Given the description of an element on the screen output the (x, y) to click on. 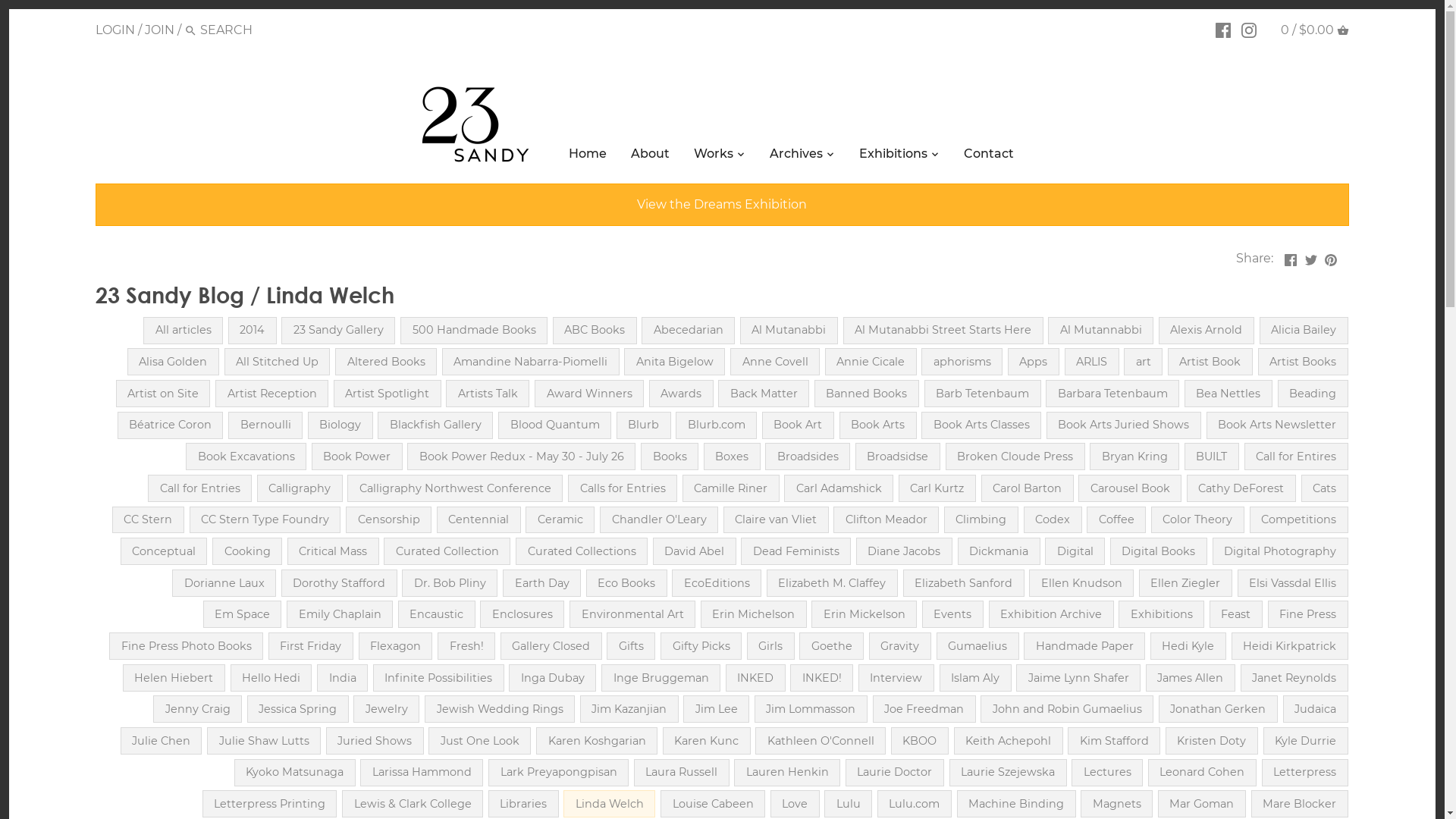
Boxes Element type: text (731, 456)
Carol Barton Element type: text (1027, 488)
Cats Element type: text (1324, 488)
Em Space Element type: text (241, 614)
Facebook
Share on Facebook Element type: text (1290, 256)
Book Arts Newsletter Element type: text (1277, 425)
Magnets Element type: text (1116, 803)
ARLIS Element type: text (1091, 361)
Carl Kurtz Element type: text (937, 488)
Laurie Doctor Element type: text (894, 772)
Conceptual Element type: text (164, 551)
Jonathan Gerken Element type: text (1218, 708)
Carl Adamshick Element type: text (838, 488)
Book Arts Element type: text (878, 425)
Earth Day Element type: text (541, 583)
Kristen Doty Element type: text (1211, 740)
INKED Element type: text (755, 677)
Eco Books Element type: text (626, 583)
BUILT Element type: text (1211, 456)
Broadsidse Element type: text (897, 456)
Inga Dubay Element type: text (552, 677)
Julie Chen Element type: text (161, 740)
Home Element type: text (587, 156)
Barb Tetenbaum Element type: text (982, 393)
Gravity Element type: text (899, 645)
View the Dreams Exhibition Element type: text (722, 204)
Award Winners Element type: text (589, 393)
Machine Binding Element type: text (1016, 803)
Bryan Kring Element type: text (1134, 456)
Book Excavations Element type: text (245, 456)
Digital Photography Element type: text (1280, 551)
Laura Russell Element type: text (681, 772)
Fine Press Element type: text (1307, 614)
Abecedarian Element type: text (688, 330)
500 Handmade Books Element type: text (473, 330)
Book Arts Classes Element type: text (981, 425)
Books Element type: text (669, 456)
All articles Element type: text (183, 330)
Interview Element type: text (896, 677)
Juried Shows Element type: text (374, 740)
0 / $0.00 CART Element type: text (1314, 29)
Blackfish Gallery Element type: text (435, 425)
Islam Aly Element type: text (975, 677)
Encaustic Element type: text (436, 614)
Blurb Element type: text (643, 425)
23 Sandy Gallery Element type: text (338, 330)
Jessica Spring Element type: text (297, 708)
Kyle Durrie Element type: text (1305, 740)
About Element type: text (649, 156)
Kyoko Matsunaga Element type: text (294, 772)
Dickmania Element type: text (998, 551)
Artists Talk Element type: text (487, 393)
Lectures Element type: text (1107, 772)
Joe Freedman Element type: text (924, 708)
Karen Koshgarian Element type: text (596, 740)
All Stitched Up Element type: text (276, 361)
Dr. Bob Pliny Element type: text (449, 583)
Hedi Kyle Element type: text (1188, 645)
Emily Chaplain Element type: text (339, 614)
Clifton Meador Element type: text (886, 520)
Alexis Arnold Element type: text (1206, 330)
Jim Lee Element type: text (716, 708)
Laurie Szejewska Element type: text (1008, 772)
Archives Element type: text (795, 156)
Linda Welch Element type: text (609, 803)
Janet Reynolds Element type: text (1294, 677)
Letterpress Printing Element type: text (269, 803)
Broken Cloude Press Element type: text (1015, 456)
Amandine Nabarra-Piomelli Element type: text (530, 361)
aphorisms Element type: text (961, 361)
Mare Blocker Element type: text (1299, 803)
Competitions Element type: text (1298, 520)
Search Element type: text (190, 31)
Al Mutanabbi Street Starts Here Element type: text (943, 330)
Goethe Element type: text (831, 645)
Chandler O'Leary Element type: text (658, 520)
Centennial Element type: text (478, 520)
Kim Stafford Element type: text (1113, 740)
Back Matter Element type: text (763, 393)
Leonard Cohen Element type: text (1201, 772)
Call for Entries Element type: text (199, 488)
Jim Kazanjian Element type: text (628, 708)
Bea Nettles Element type: text (1228, 393)
Diane Jacobs Element type: text (903, 551)
Twitter
Share on Twitter Element type: text (1311, 256)
Events Element type: text (952, 614)
EcoEditions Element type: text (716, 583)
Call for Entires Element type: text (1296, 456)
Ellen Ziegler Element type: text (1185, 583)
Lark Preyapongpisan Element type: text (558, 772)
Ellen Knudson Element type: text (1080, 583)
James Allen Element type: text (1190, 677)
Contact Element type: text (988, 156)
KBOO Element type: text (919, 740)
Dorothy Stafford Element type: text (339, 583)
CC Stern Element type: text (147, 520)
Jewelry Element type: text (386, 708)
ABC Books Element type: text (594, 330)
Lulu.com Element type: text (914, 803)
Gifts Element type: text (630, 645)
Louise Cabeen Element type: text (712, 803)
Artist Book Element type: text (1210, 361)
Blurb.com Element type: text (716, 425)
Cooking Element type: text (247, 551)
Apps Element type: text (1033, 361)
Gallery Closed Element type: text (551, 645)
Al Mutanabbi Element type: text (788, 330)
art Element type: text (1142, 361)
Lauren Henkin Element type: text (786, 772)
Jenny Craig Element type: text (197, 708)
Mar Goman Element type: text (1201, 803)
John and Robin Gumaelius Element type: text (1066, 708)
Ceramic Element type: text (559, 520)
Alisa Golden Element type: text (173, 361)
JOIN Element type: text (159, 29)
Works Element type: text (713, 156)
Exhibitions Element type: text (1161, 614)
Carousel Book Element type: text (1129, 488)
Inge Bruggeman Element type: text (660, 677)
Digital Element type: text (1074, 551)
2014 Element type: text (252, 330)
Keith Achepohl Element type: text (1008, 740)
Environmental Art Element type: text (632, 614)
Censorship Element type: text (388, 520)
Libraries Element type: text (523, 803)
Jaime Lynn Shafer Element type: text (1077, 677)
Gifty Picks Element type: text (700, 645)
Calls for Entries Element type: text (622, 488)
Book Arts Juried Shows Element type: text (1123, 425)
Jewish Wedding Rings Element type: text (499, 708)
Beading Element type: text (1312, 393)
Alicia Bailey Element type: text (1303, 330)
Julie Shaw Lutts Element type: text (263, 740)
Camille Riner Element type: text (730, 488)
Girls Element type: text (770, 645)
LOGIN Element type: text (114, 29)
Dorianne Laux Element type: text (223, 583)
Elizabeth Sanford Element type: text (963, 583)
Artist on Site Element type: text (163, 393)
Flexagon Element type: text (395, 645)
Color Theory Element type: text (1197, 520)
Helen Hiebert Element type: text (173, 677)
Coffee Element type: text (1116, 520)
Altered Books Element type: text (385, 361)
Claire van Vliet Element type: text (776, 520)
Broadsides Element type: text (807, 456)
Anita Bigelow Element type: text (674, 361)
Annie Cicale Element type: text (870, 361)
CC Stern Type Foundry Element type: text (264, 520)
Erin Mickelson Element type: text (864, 614)
Curated Collection Element type: text (446, 551)
Awards Element type: text (680, 393)
Digital Books Element type: text (1158, 551)
Elizabeth M. Claffey Element type: text (832, 583)
Fine Press Photo Books Element type: text (185, 645)
Hello Hedi Element type: text (270, 677)
Critical Mass Element type: text (333, 551)
FACEBOOK Element type: text (1222, 29)
Banned Books Element type: text (866, 393)
Curated Collections Element type: text (581, 551)
Erin Michelson Element type: text (753, 614)
Artist Books Element type: text (1302, 361)
Exhibitions Element type: text (893, 156)
Pinterest
Pin the main image Element type: text (1330, 256)
Handmade Paper Element type: text (1084, 645)
Anne Covell Element type: text (775, 361)
Kathleen O'Connell Element type: text (820, 740)
Calligraphy Element type: text (299, 488)
Fresh! Element type: text (466, 645)
Barbara Tetenbaum Element type: text (1112, 393)
Cathy DeForest Element type: text (1241, 488)
Love Element type: text (795, 803)
Calligraphy Northwest Conference Element type: text (454, 488)
India Element type: text (342, 677)
Climbing Element type: text (980, 520)
Book Power Redux - May 30 - July 26 Element type: text (520, 456)
Lewis & Clark College Element type: text (412, 803)
Codex Element type: text (1052, 520)
Exhibition Archive Element type: text (1051, 614)
Artist Reception Element type: text (271, 393)
First Friday Element type: text (310, 645)
Elsi Vassdal Ellis Element type: text (1292, 583)
Dead Feminists Element type: text (795, 551)
Larissa Hammond Element type: text (421, 772)
Book Power Element type: text (356, 456)
Infinite Possibilities Element type: text (438, 677)
Gumaelius Element type: text (977, 645)
David Abel Element type: text (694, 551)
Karen Kunc Element type: text (706, 740)
Letterpress Element type: text (1304, 772)
INSTAGRAM Element type: text (1248, 29)
Jim Lommasson Element type: text (810, 708)
Judaica Element type: text (1315, 708)
Blood Quantum Element type: text (554, 425)
Heidi Kirkpatrick Element type: text (1289, 645)
Bernoulli Element type: text (265, 425)
Biology Element type: text (340, 425)
Book Art Element type: text (797, 425)
Al Mutannabbi Element type: text (1100, 330)
Feast Element type: text (1235, 614)
INKED! Element type: text (821, 677)
Artist Spotlight Element type: text (387, 393)
Lulu Element type: text (848, 803)
Enclosures Element type: text (521, 614)
Just One Look Element type: text (479, 740)
